Given the description of an element on the screen output the (x, y) to click on. 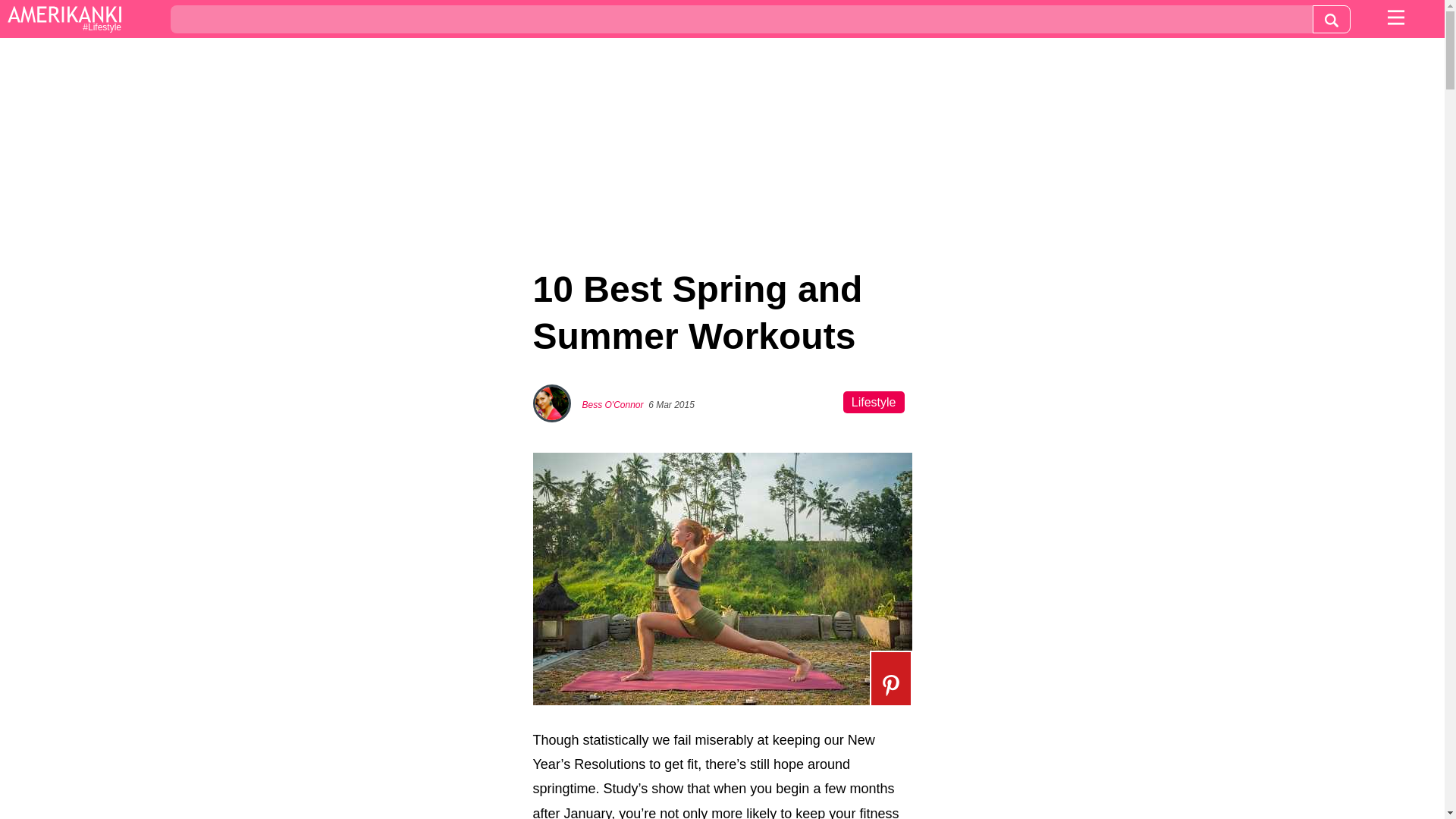
Bess O'Connor (612, 404)
Lifestyle (873, 402)
Lifestyle Amerikanki (63, 19)
Lifestyle (63, 19)
